Given the description of an element on the screen output the (x, y) to click on. 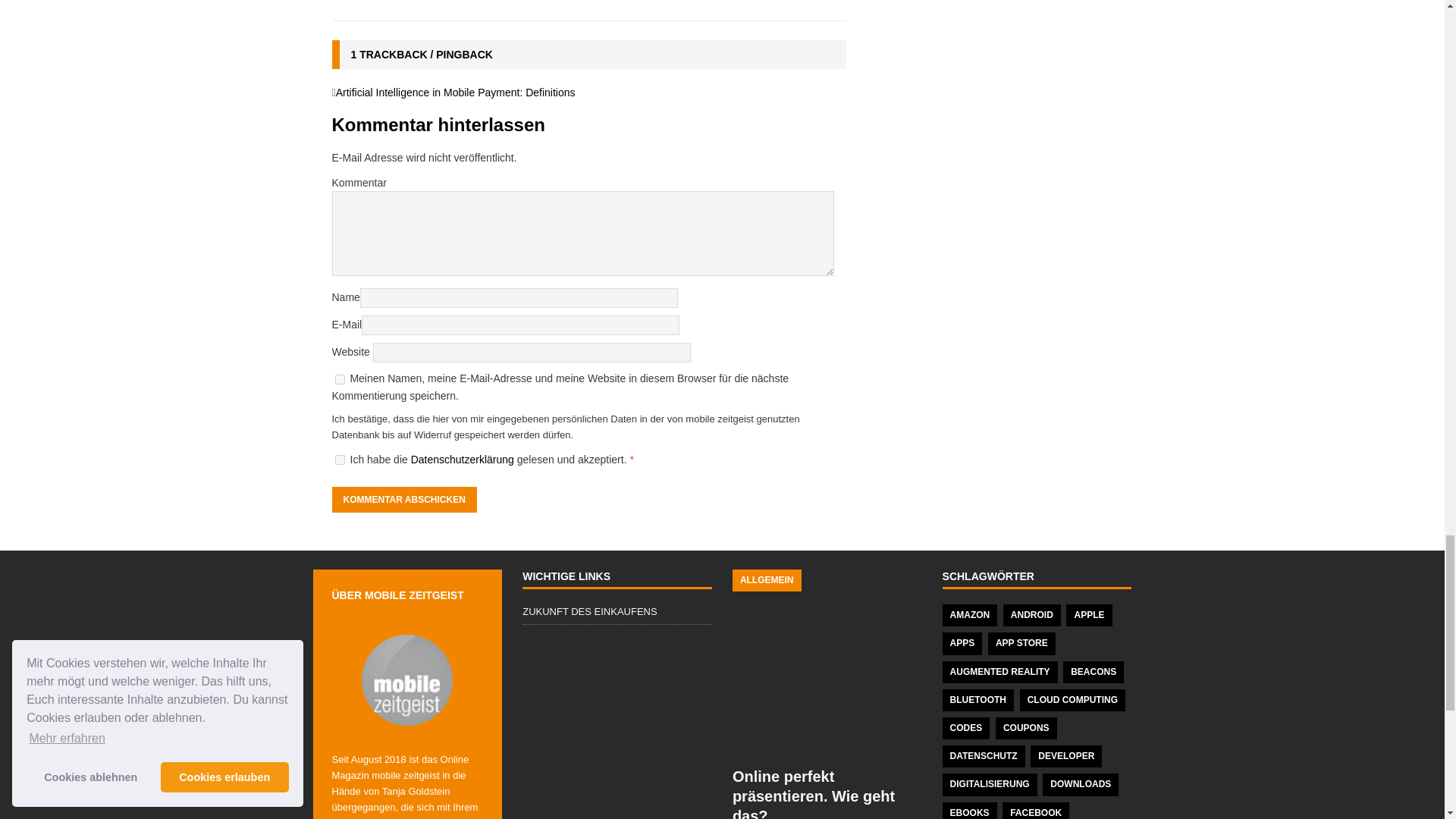
yes (339, 379)
policy-key (339, 460)
Kommentar abschicken (404, 499)
